Given the description of an element on the screen output the (x, y) to click on. 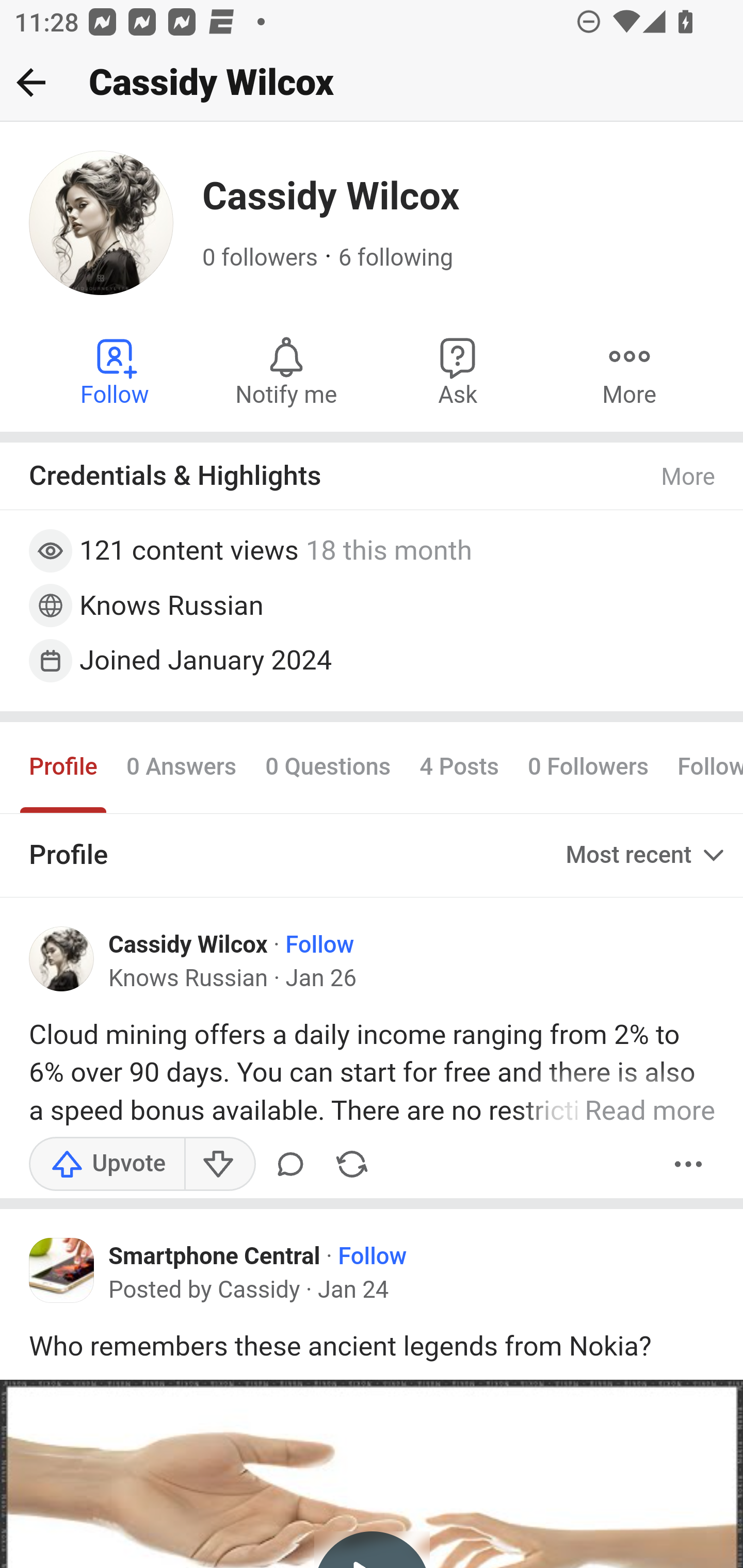
Back (30, 82)
0 followers (260, 257)
6 following (395, 257)
Follow Cassidy Wilcox Follow (115, 370)
Notify me (285, 370)
Ask (458, 370)
More (628, 370)
More (688, 477)
Profile (63, 766)
0 Answers (180, 766)
0 Questions (327, 766)
4 Posts (459, 766)
0 Followers (588, 766)
Most recent (647, 854)
Profile photo for Cassidy Wilcox (61, 959)
Cassidy Wilcox (188, 944)
Follow (320, 944)
Upvote (106, 1163)
Downvote (219, 1163)
Comment (293, 1163)
Share (351, 1163)
More (688, 1163)
Icon for Smartphone Central (61, 1270)
Smartphone Central (214, 1255)
Follow (372, 1255)
